Given the description of an element on the screen output the (x, y) to click on. 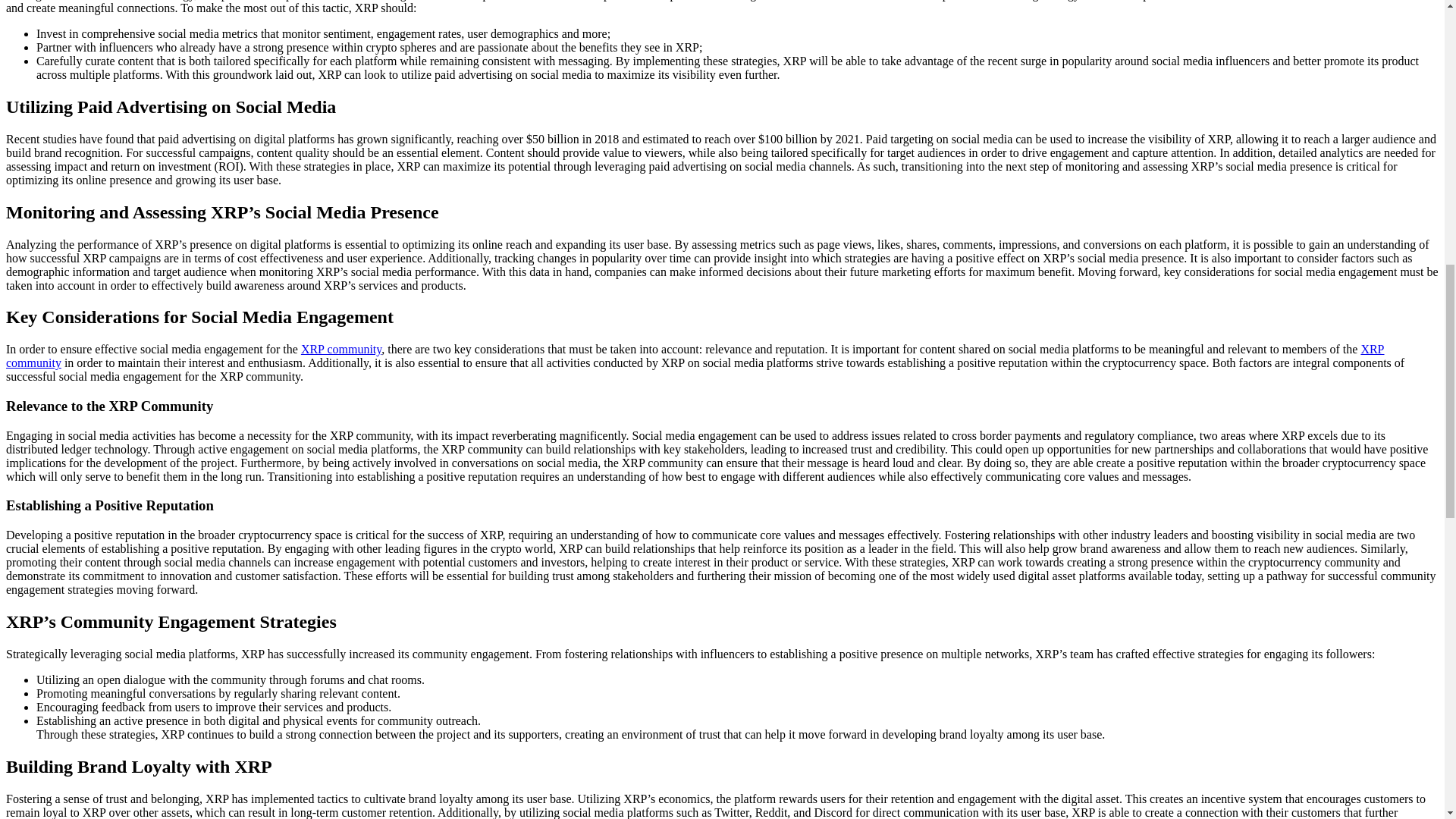
XRP community (341, 349)
XRP community (341, 349)
XRP community (694, 356)
XRP community (694, 356)
